Given the description of an element on the screen output the (x, y) to click on. 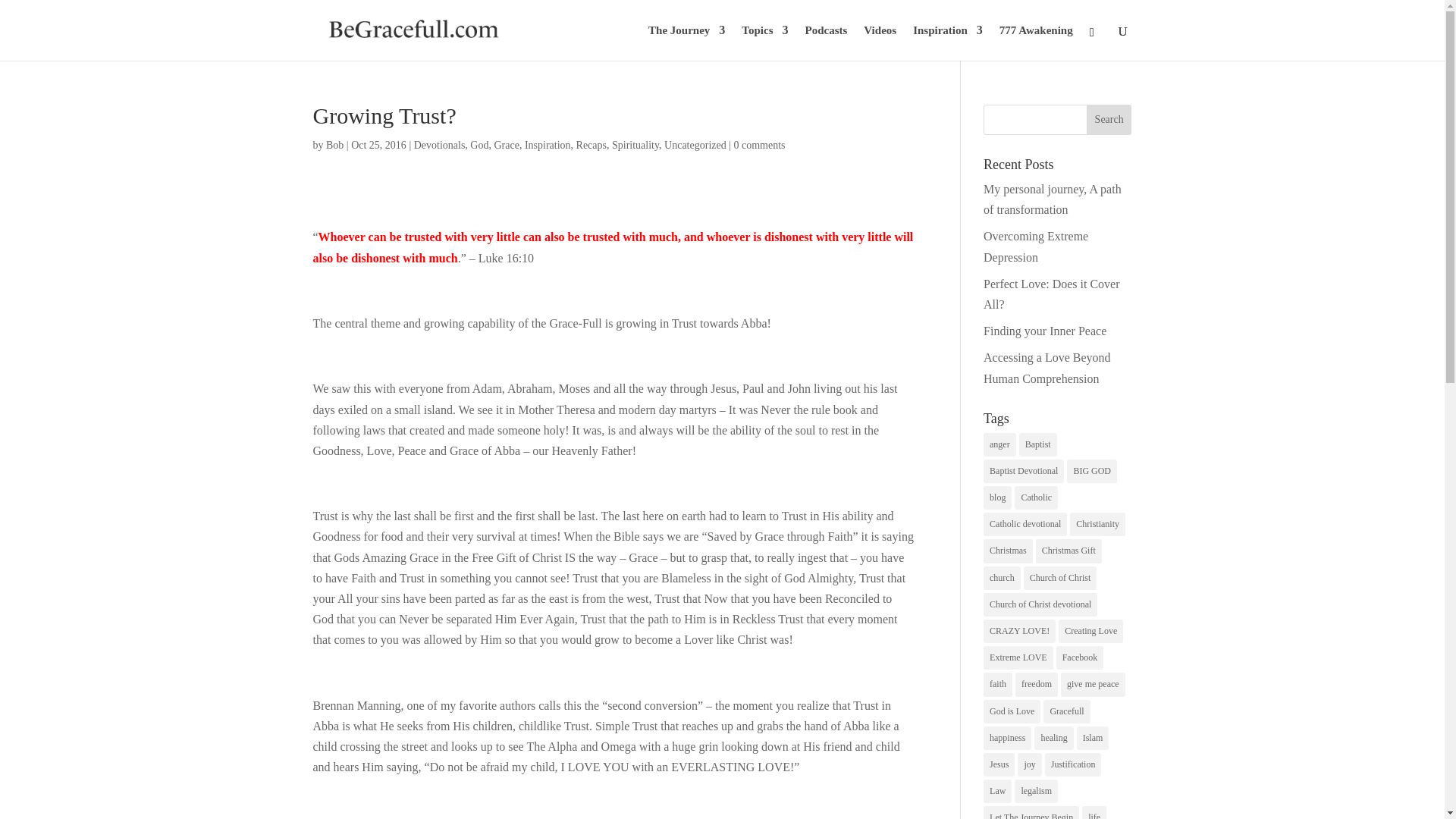
0 comments (759, 144)
Posts by Bob (334, 144)
blog (997, 497)
Uncategorized (694, 144)
anger (1000, 444)
Topics (764, 42)
Inspiration (547, 144)
Baptist Devotional (1024, 471)
Search (1109, 119)
Inspiration (947, 42)
